Given the description of an element on the screen output the (x, y) to click on. 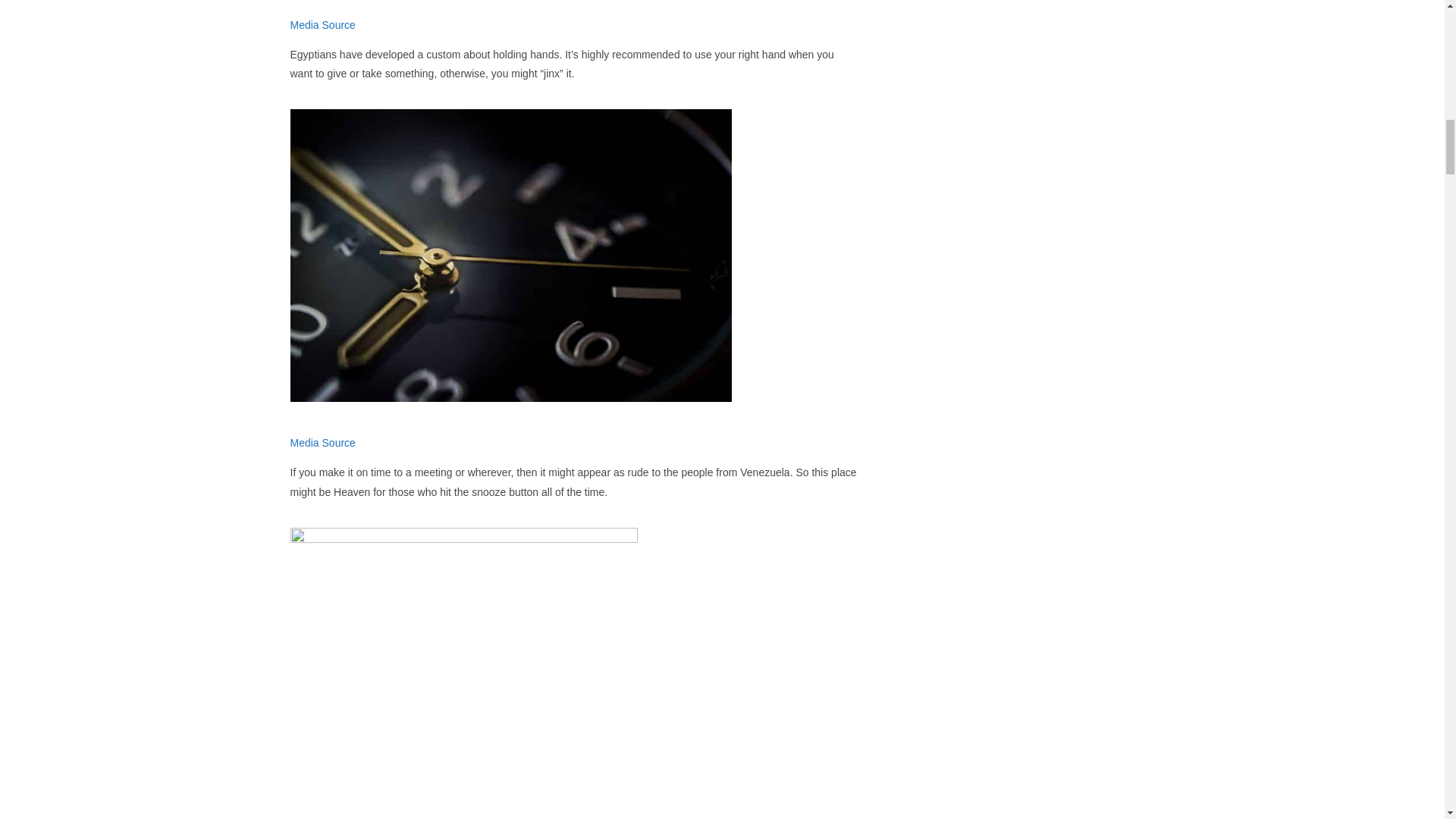
Media Source (322, 442)
Media Source (322, 24)
